Given the description of an element on the screen output the (x, y) to click on. 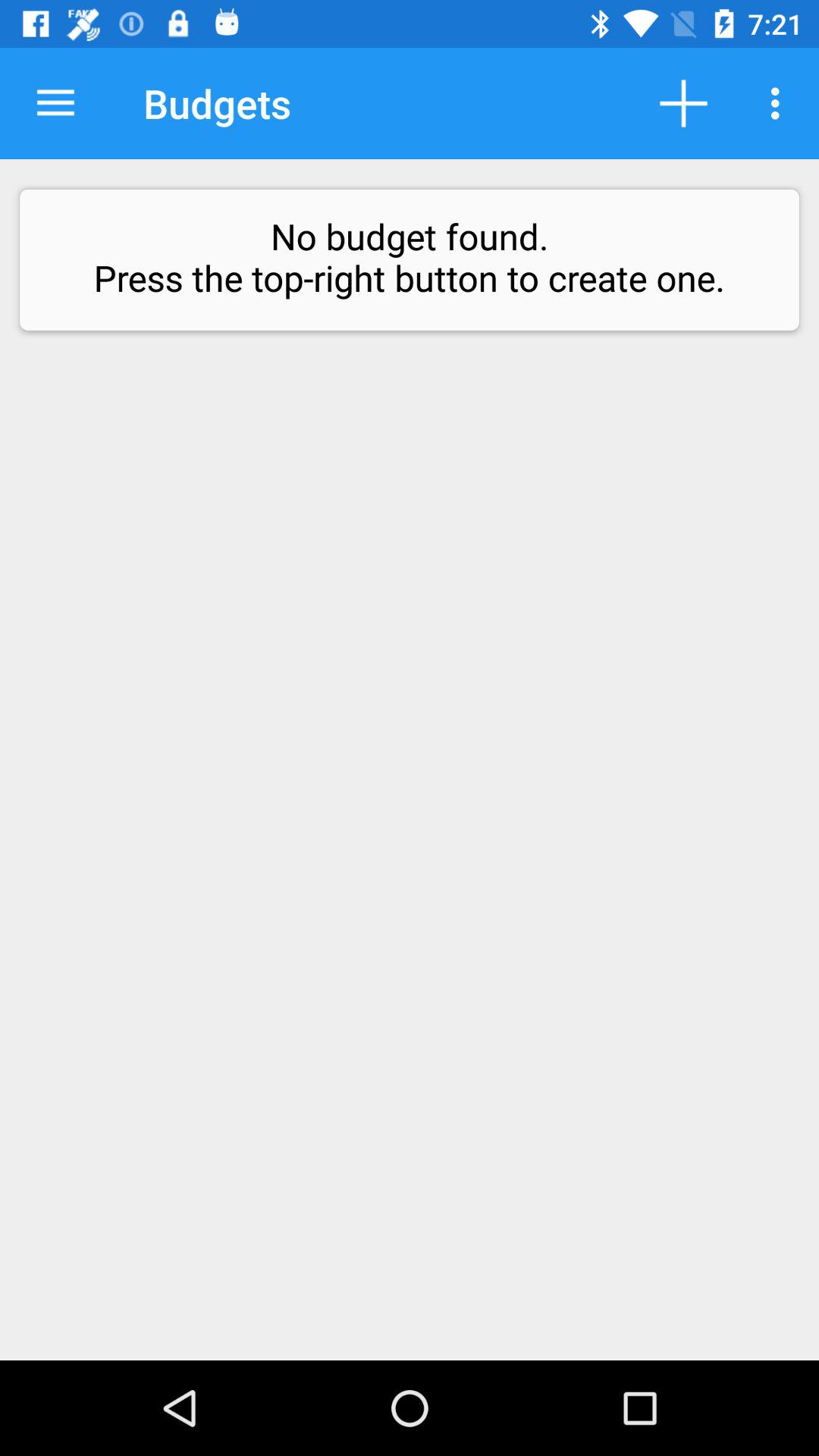
turn on icon to the left of the budgets icon (55, 103)
